Given the description of an element on the screen output the (x, y) to click on. 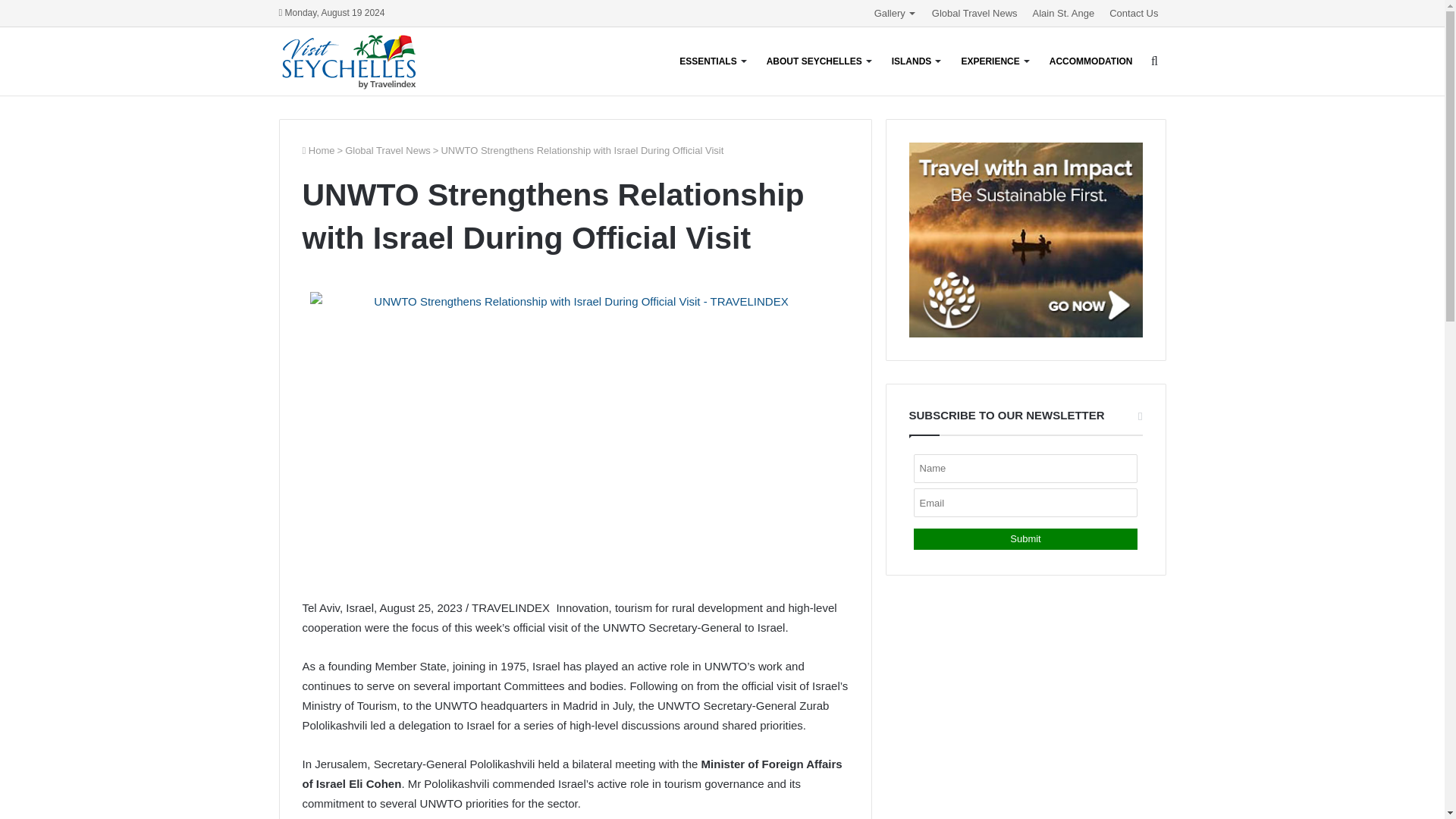
ACCOMMODATION (1090, 61)
Visit Seychelles - Paradise Islands in the Indian Ocean (349, 61)
Contact Us (1134, 13)
ISLANDS (915, 61)
Home (317, 150)
Alain St. Ange (1063, 13)
ESSENTIALS (711, 61)
Gallery (895, 13)
Submit (1025, 538)
Global Travel News (974, 13)
